Given the description of an element on the screen output the (x, y) to click on. 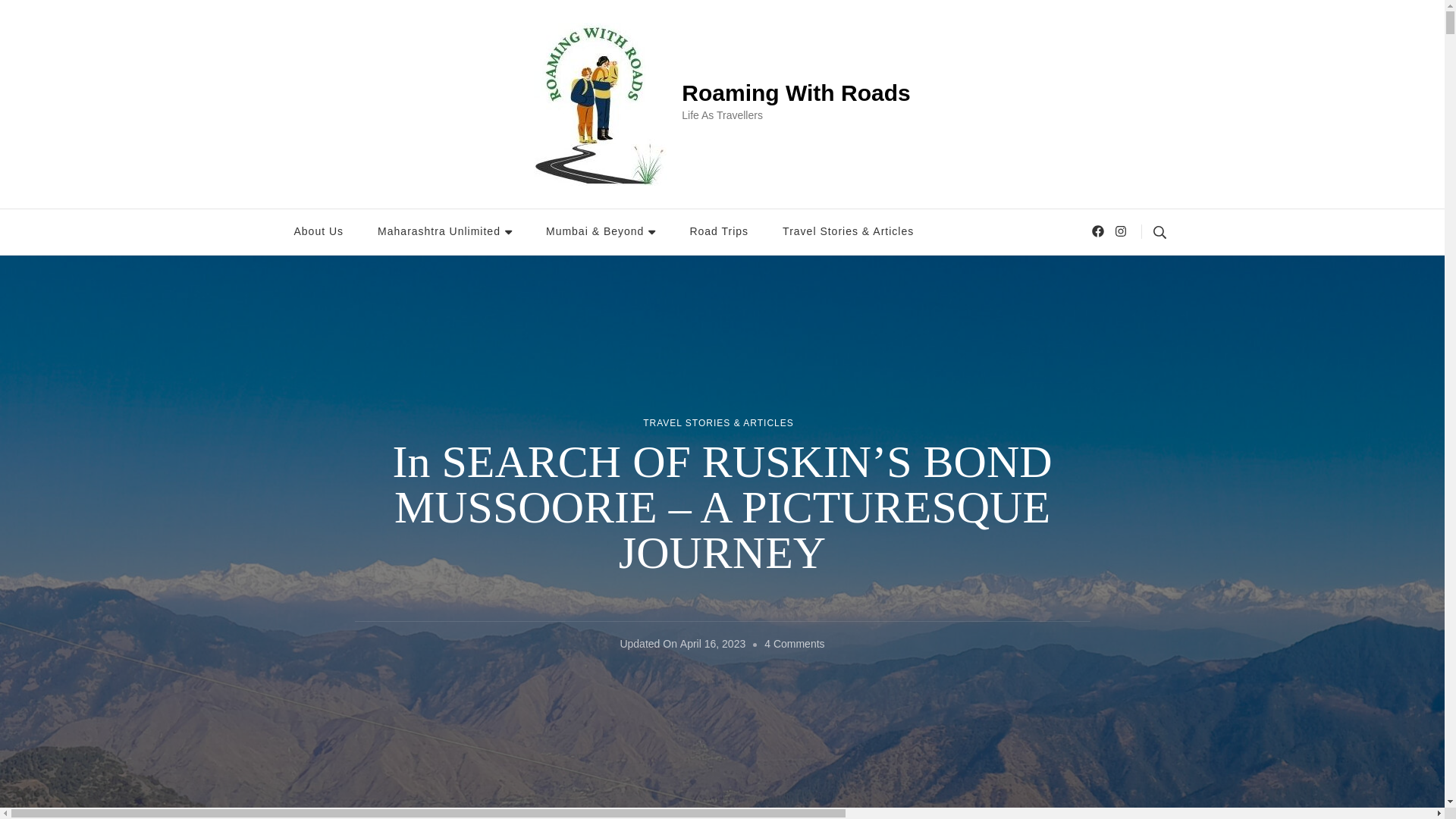
About Us (319, 231)
Maharashtra Unlimited (444, 231)
Roaming With Roads (795, 92)
Road Trips (718, 231)
April 16, 2023 (712, 644)
